Given the description of an element on the screen output the (x, y) to click on. 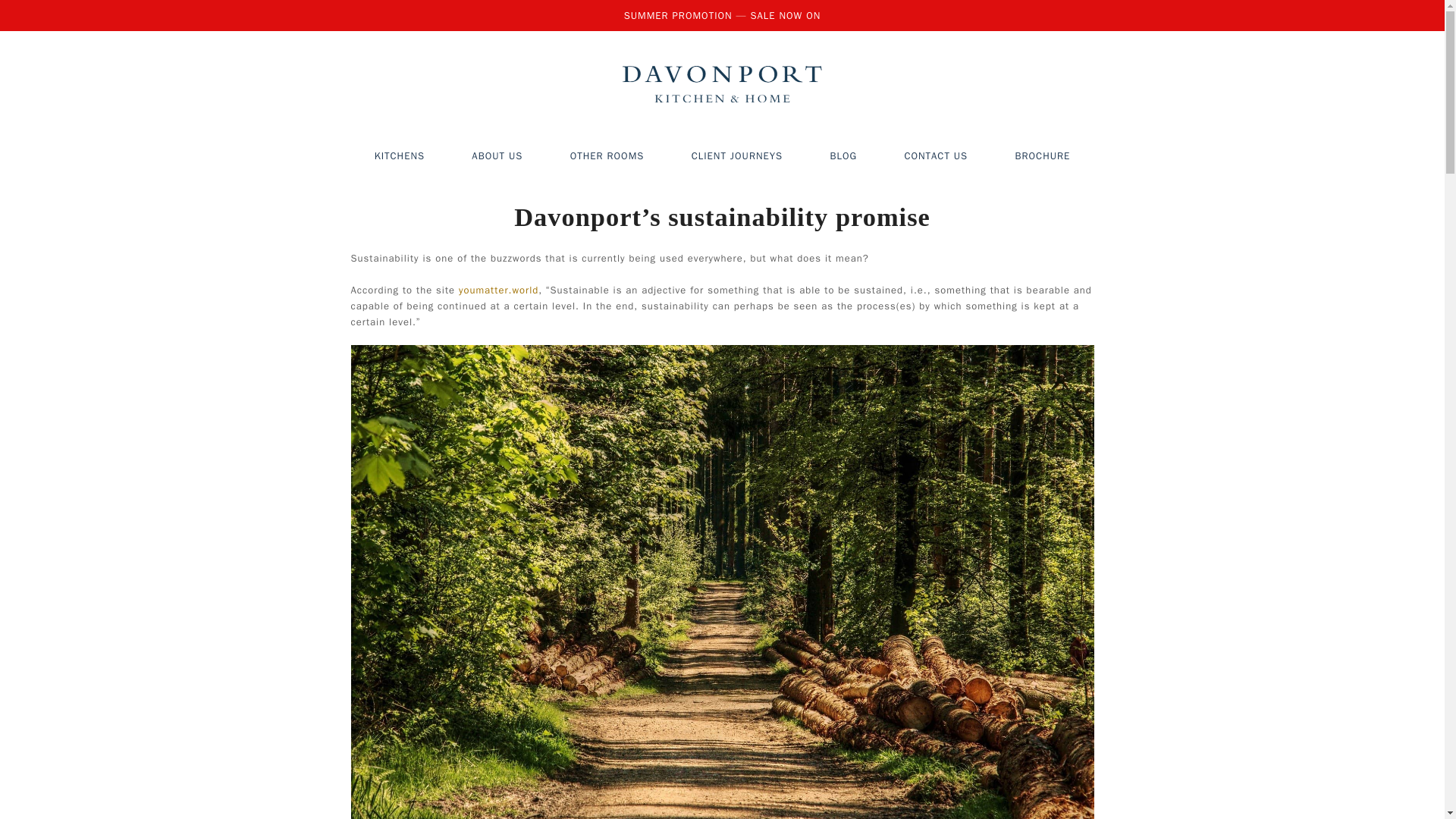
youmatter.world (498, 289)
BLOG (843, 156)
CONTACT US (935, 156)
ABOUT US (497, 156)
BROCHURE (1042, 156)
CLIENT JOURNEYS (737, 156)
OTHER ROOMS (606, 156)
KITCHENS (399, 156)
